Given the description of an element on the screen output the (x, y) to click on. 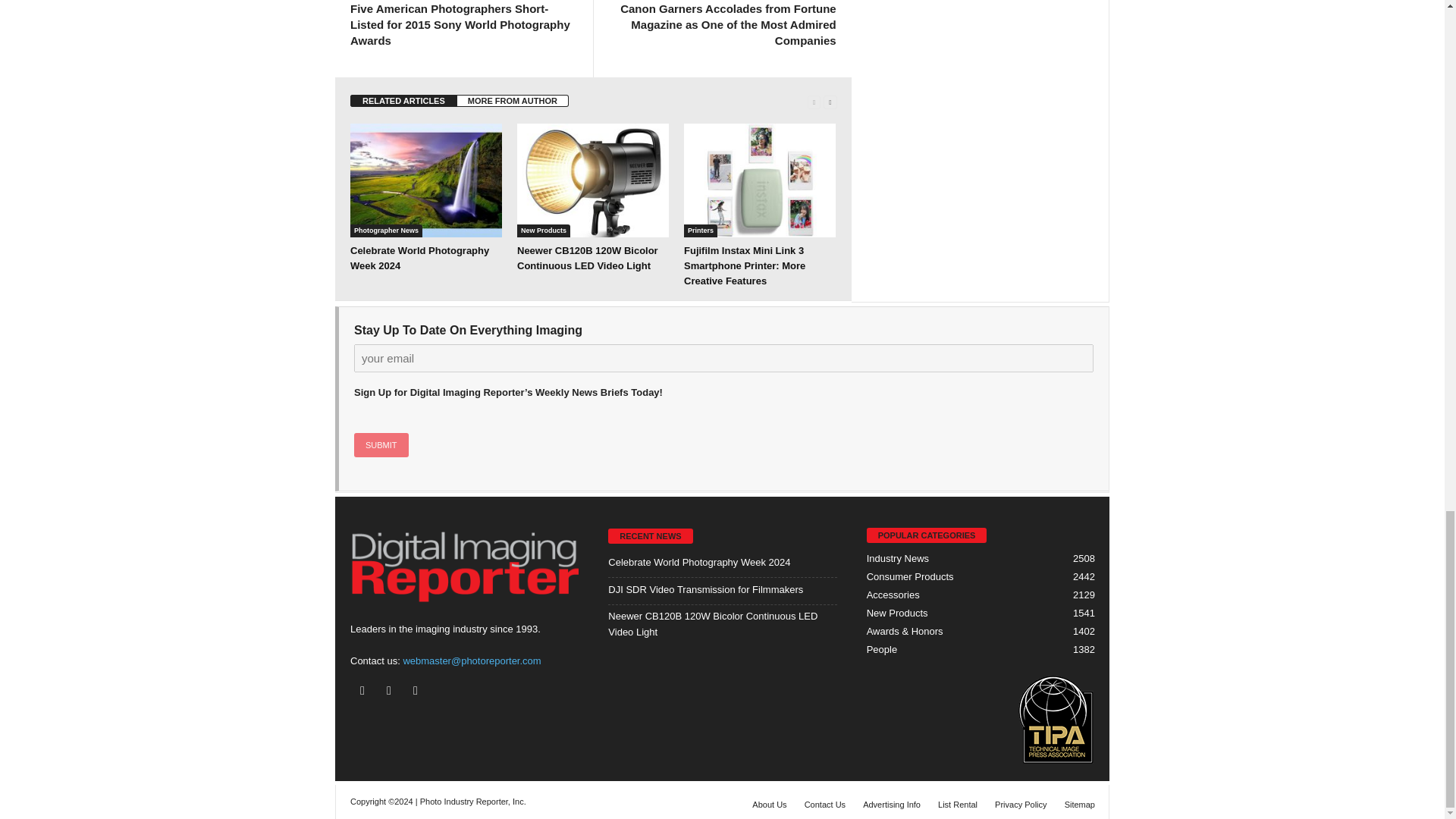
Celebrate World Photography Week 2024 (419, 257)
Neewer CB120B 120W Bicolor Continuous LED Video Light (587, 257)
Submit (381, 445)
Celebrate World Photography Week 2024 (426, 180)
Neewer CB120B 120W Bicolor Continuous LED Video Light (592, 180)
